Given the description of an element on the screen output the (x, y) to click on. 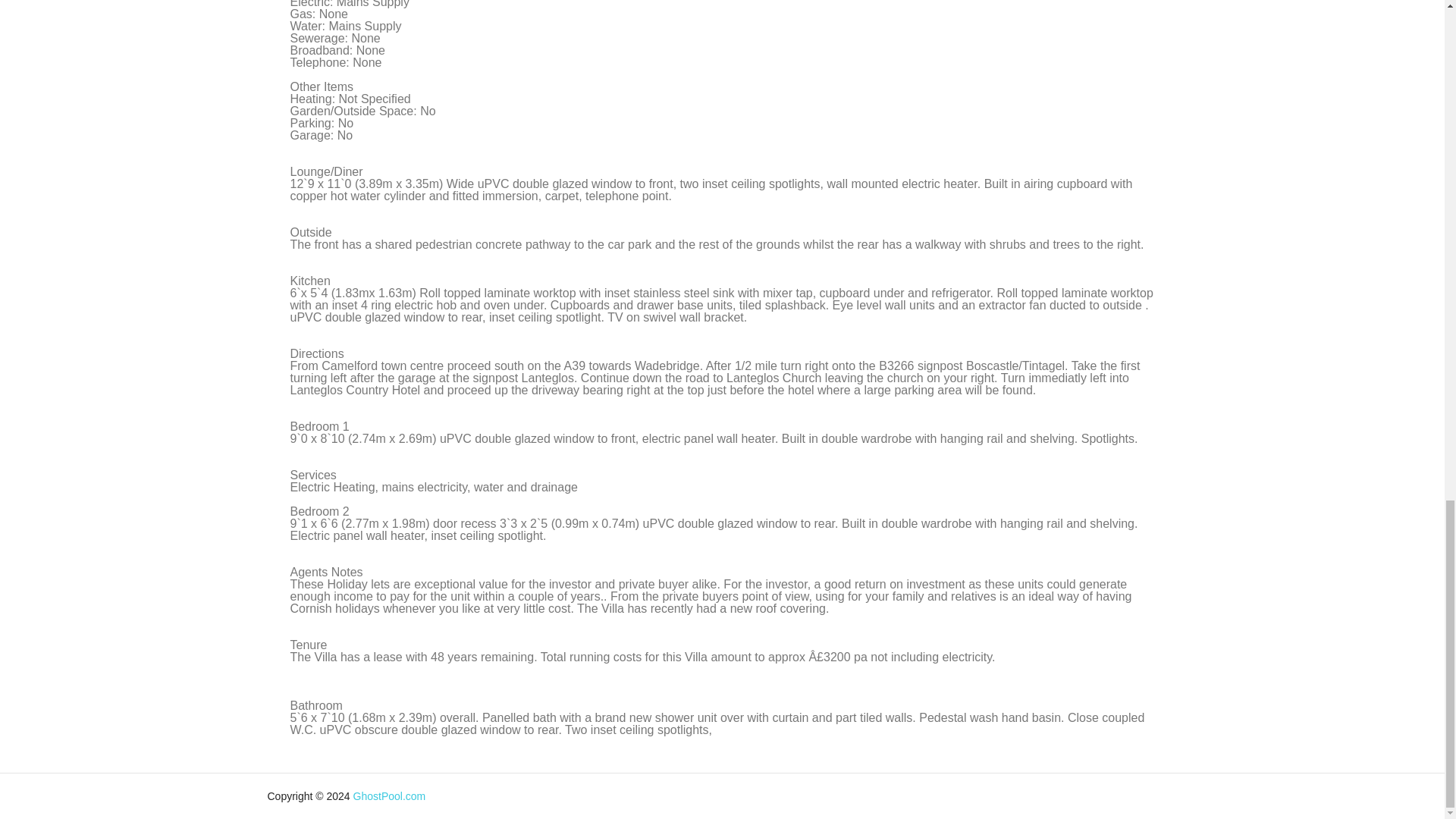
GhostPool.com (389, 796)
